Given the description of an element on the screen output the (x, y) to click on. 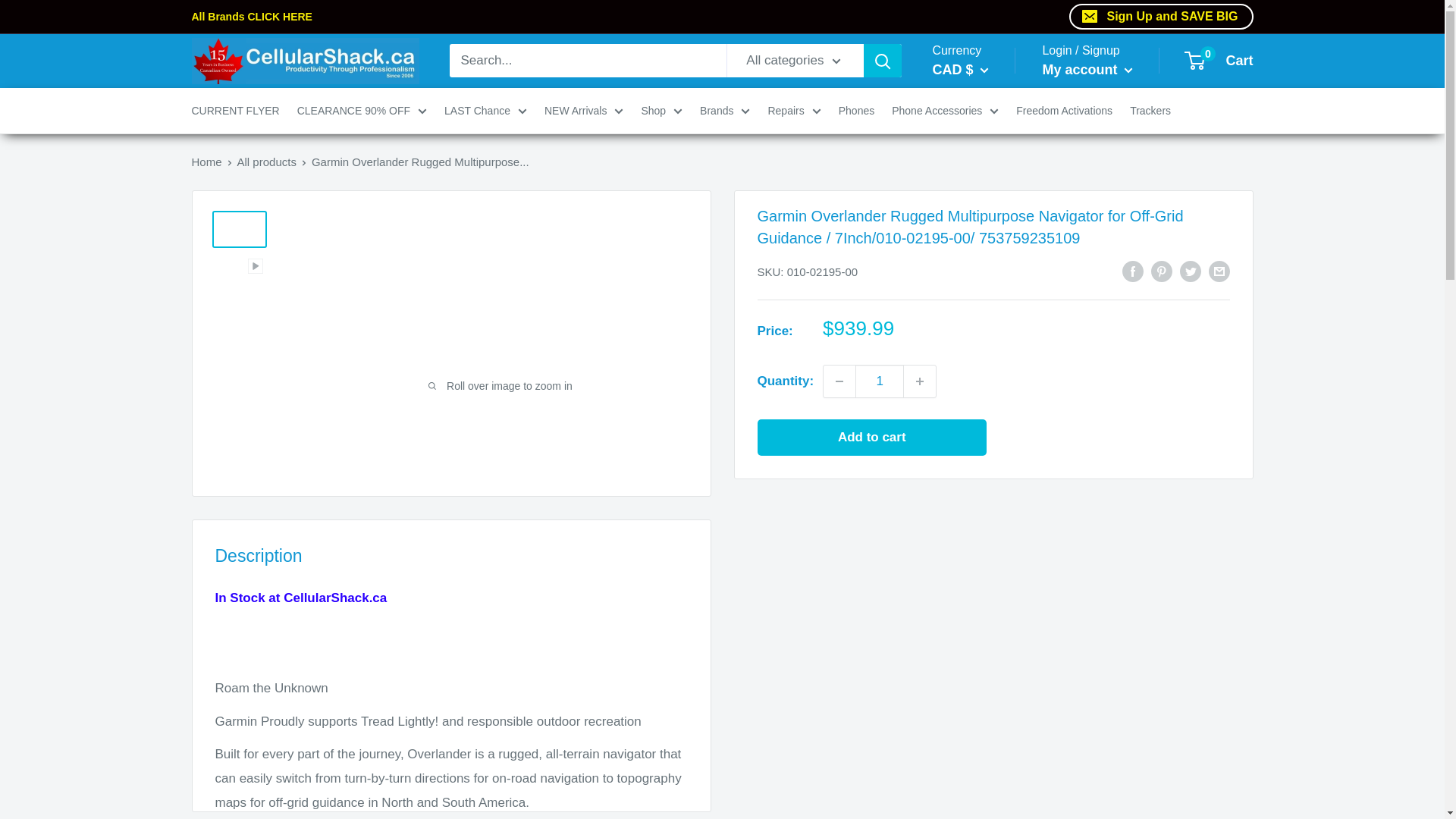
Increase quantity by 1 (920, 381)
Sign Up and SAVE BIG (1160, 16)
All Brands CLICK HERE (593, 15)
1 (880, 381)
Decrease quantity by 1 (840, 381)
